Given the description of an element on the screen output the (x, y) to click on. 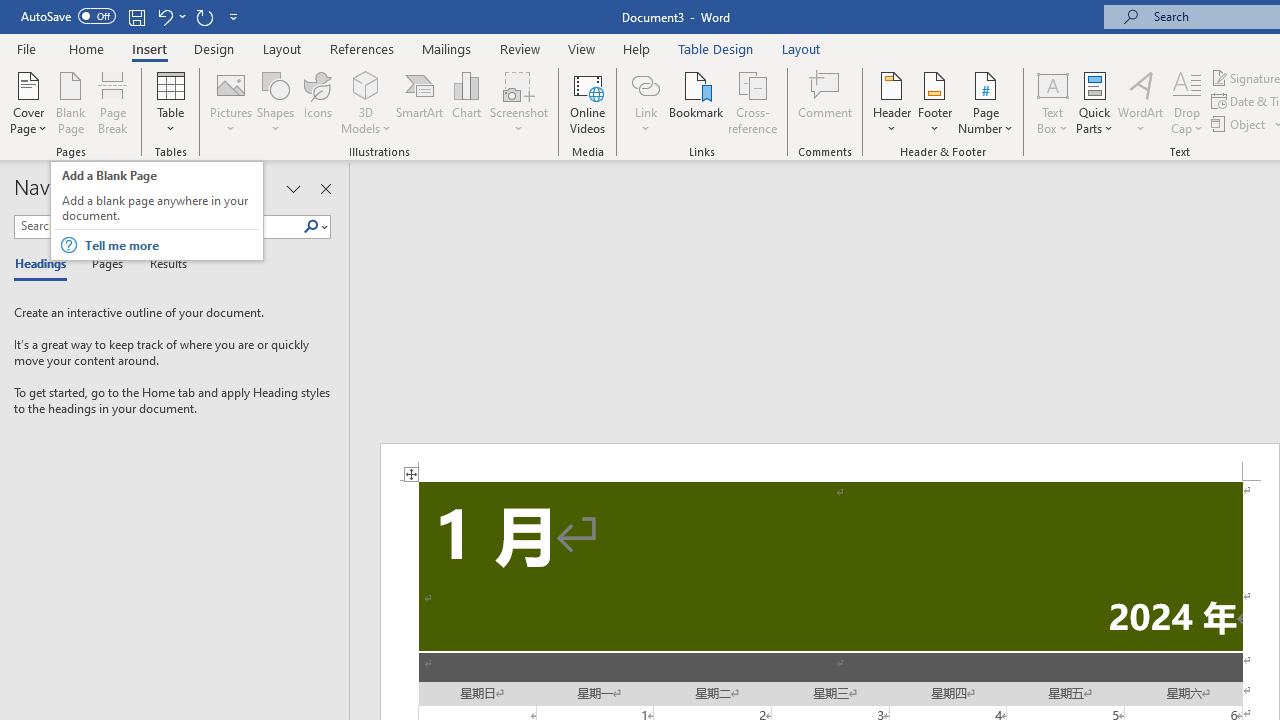
Text Box (1052, 102)
